Given the description of an element on the screen output the (x, y) to click on. 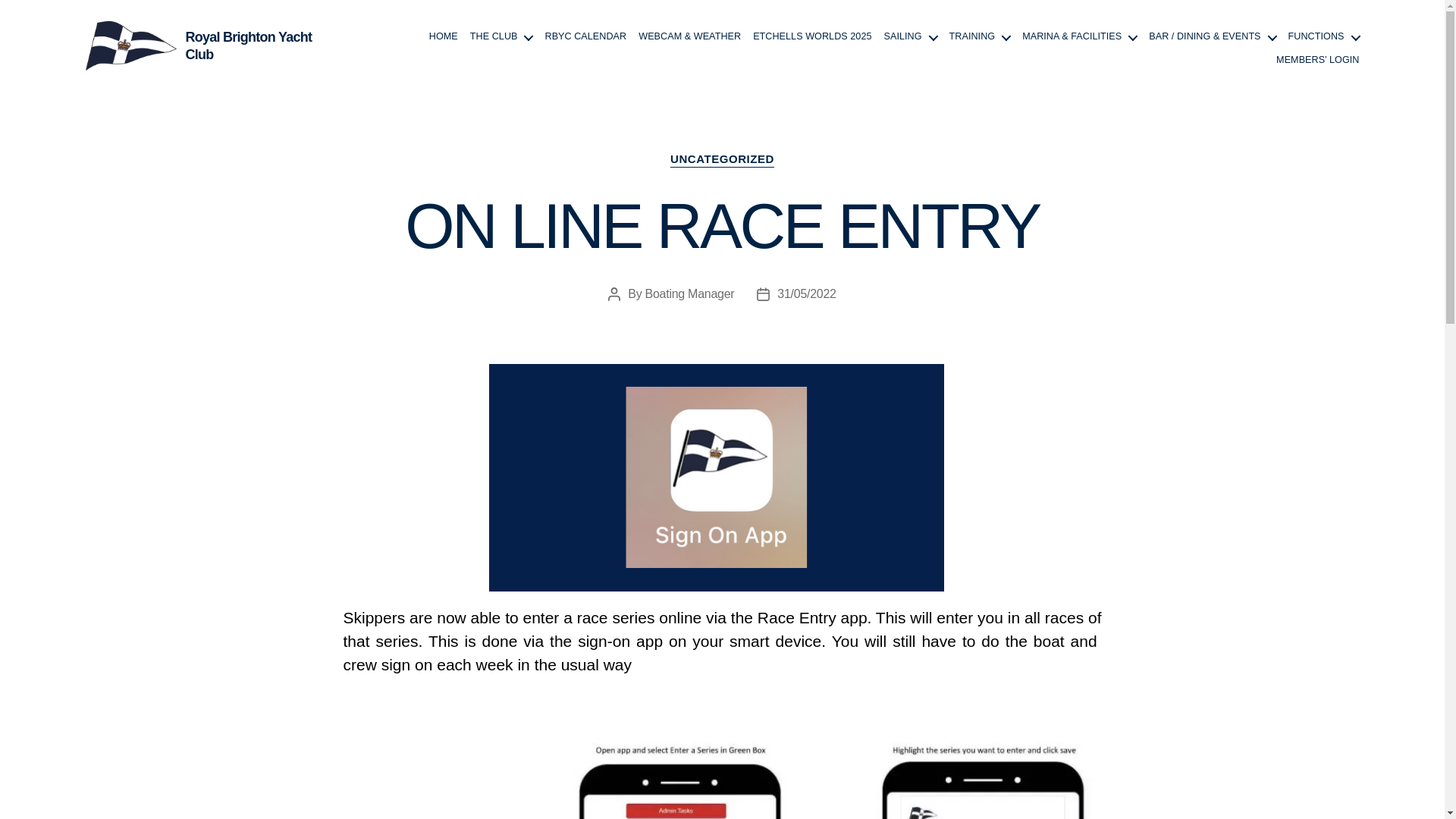
HOME (443, 36)
ETCHELLS WORLDS 2025 (811, 36)
RBYC CALENDAR (585, 36)
SAILING (910, 36)
THE CLUB (501, 36)
